Given the description of an element on the screen output the (x, y) to click on. 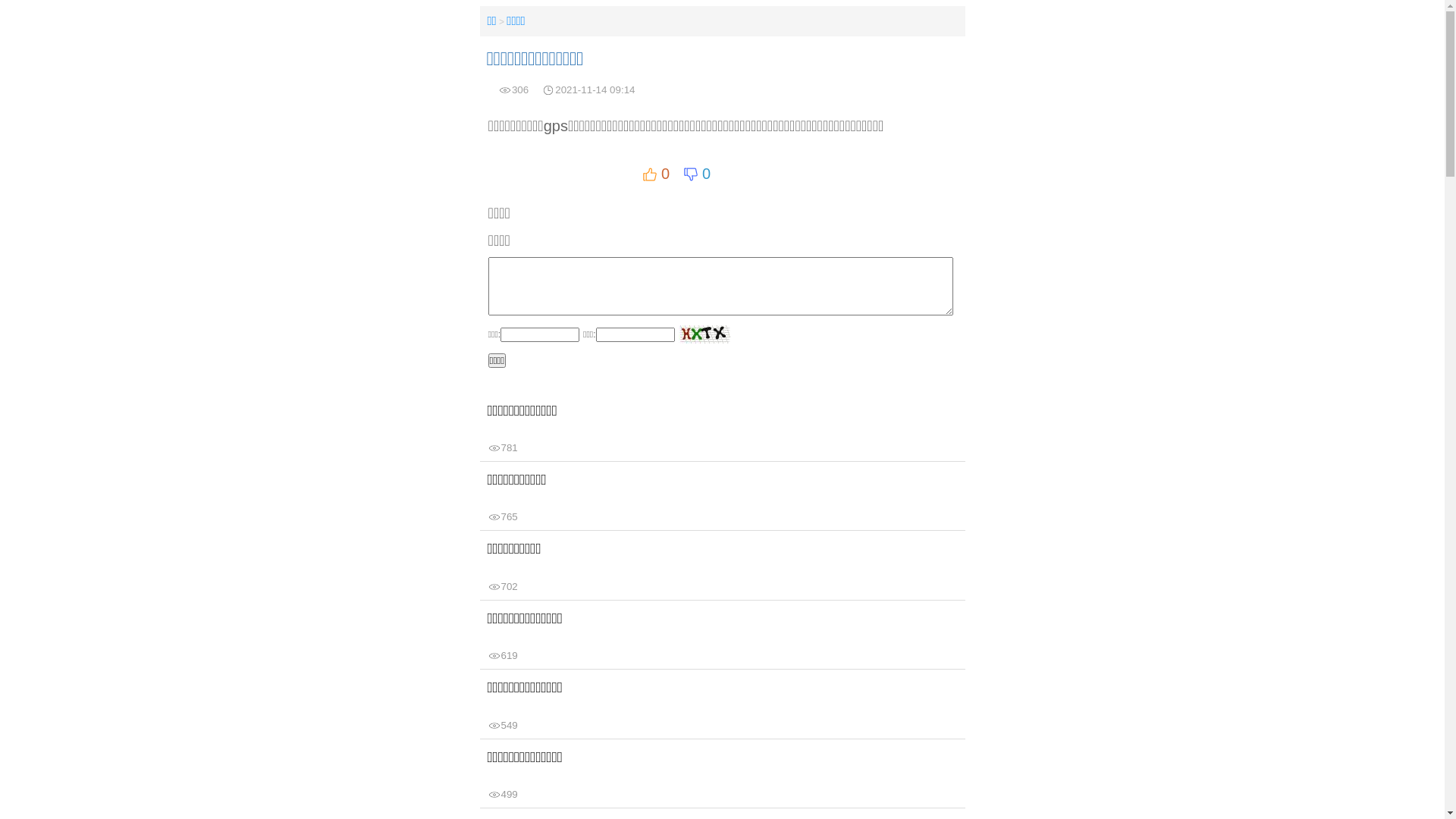
0 Element type: text (696, 173)
0 Element type: text (655, 173)
